Given the description of an element on the screen output the (x, y) to click on. 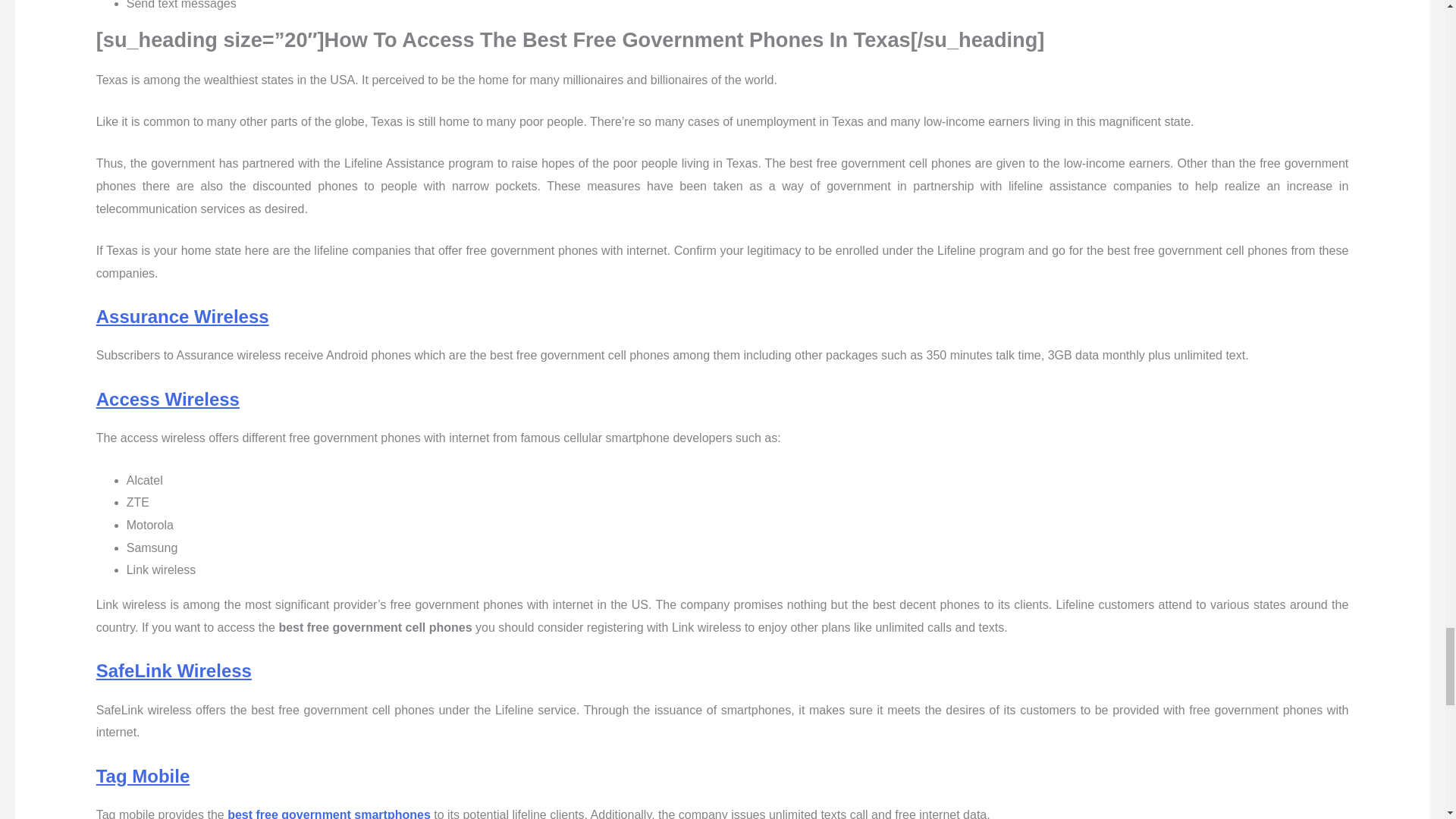
Access Wireless (168, 399)
Assurance Wireless (182, 316)
